Given the description of an element on the screen output the (x, y) to click on. 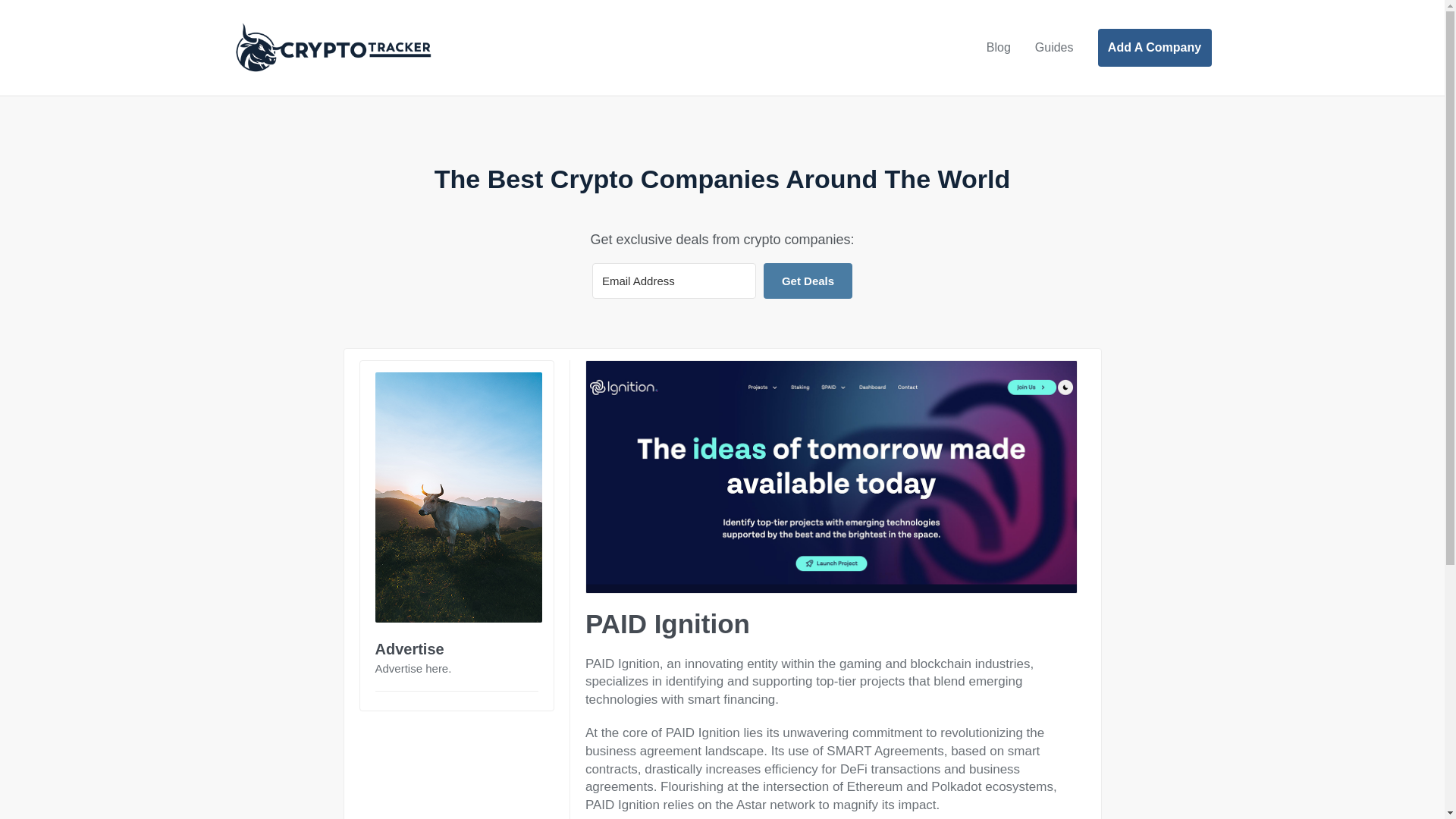
Advertise (409, 648)
Get Deals (806, 280)
Add A Company (1154, 47)
Blog (998, 47)
Guides (1054, 47)
